Given the description of an element on the screen output the (x, y) to click on. 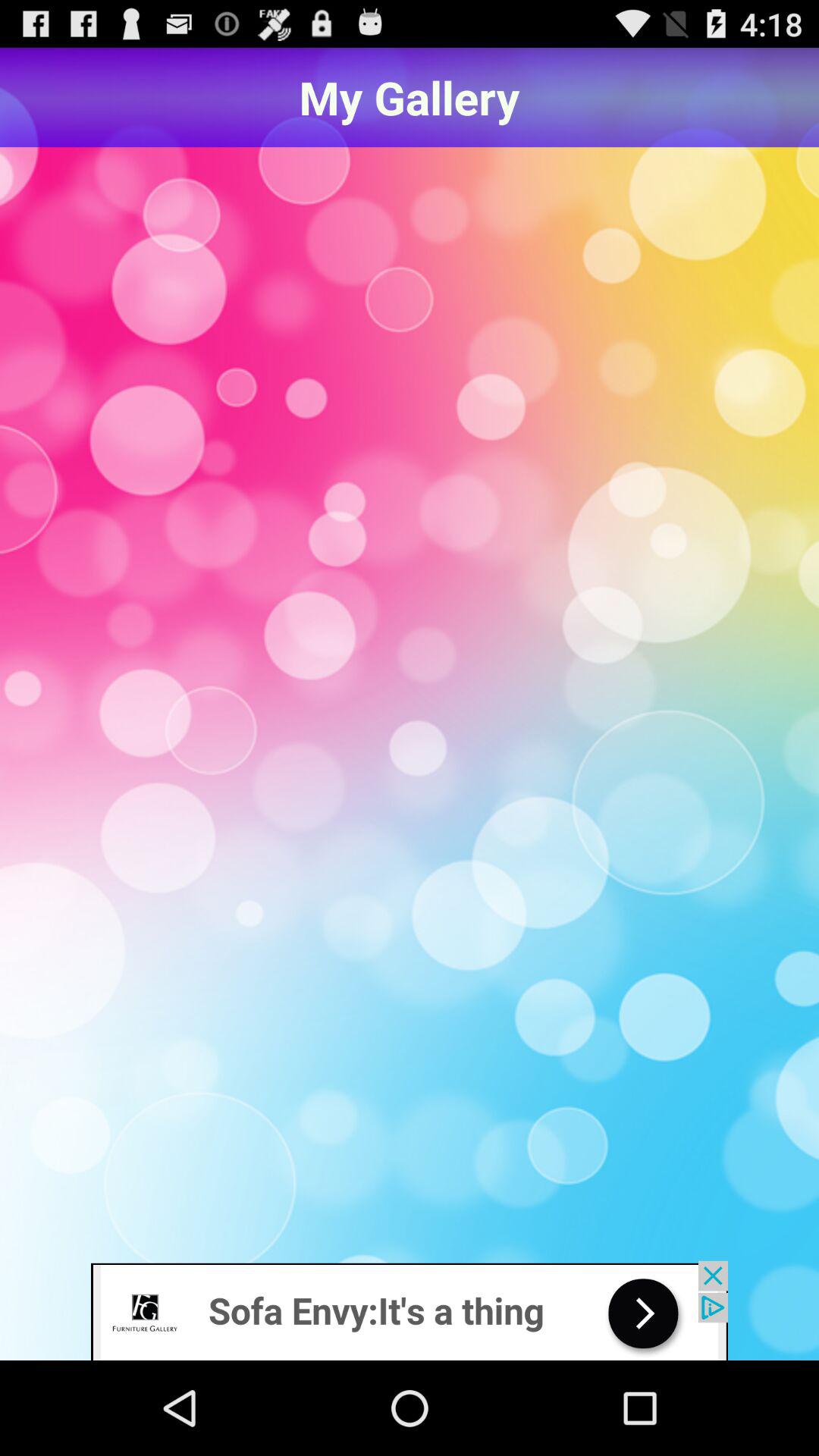
visit furniture website (409, 1310)
